Given the description of an element on the screen output the (x, y) to click on. 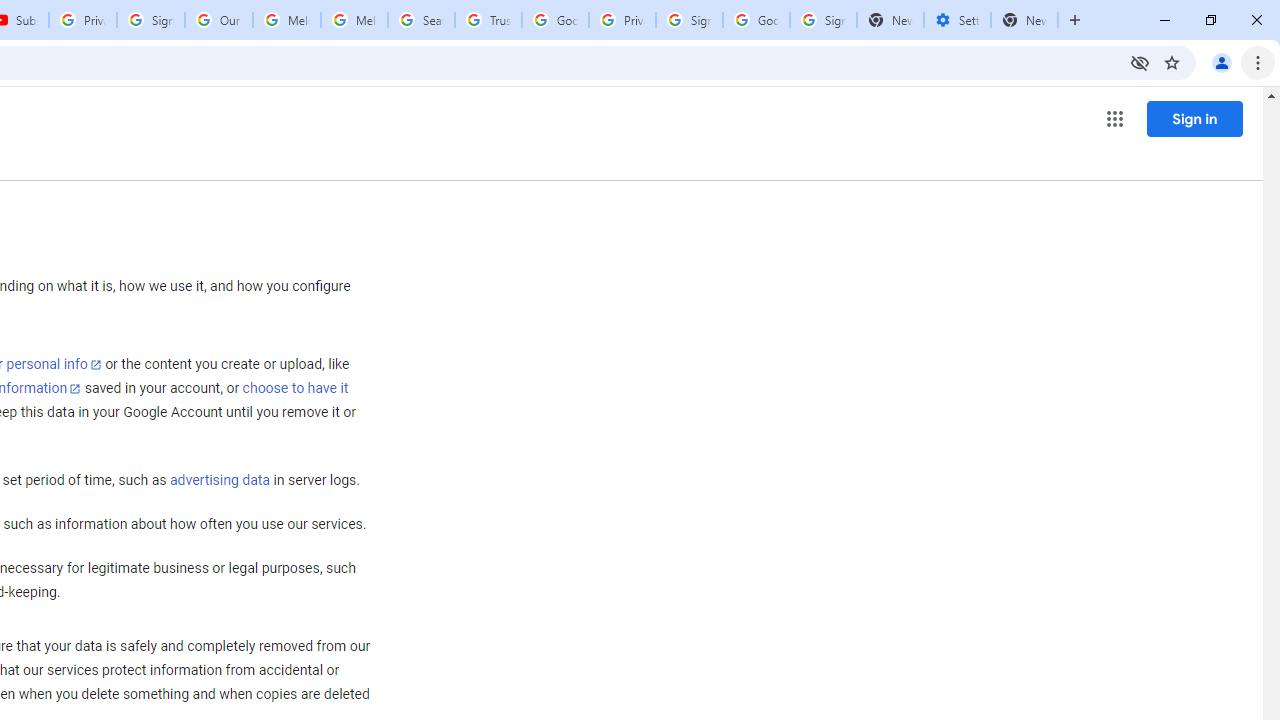
personal info (54, 364)
New Tab (1024, 20)
Sign in - Google Accounts (823, 20)
Trusted Information and Content - Google Safety Center (488, 20)
Settings - Addresses and more (957, 20)
